Given the description of an element on the screen output the (x, y) to click on. 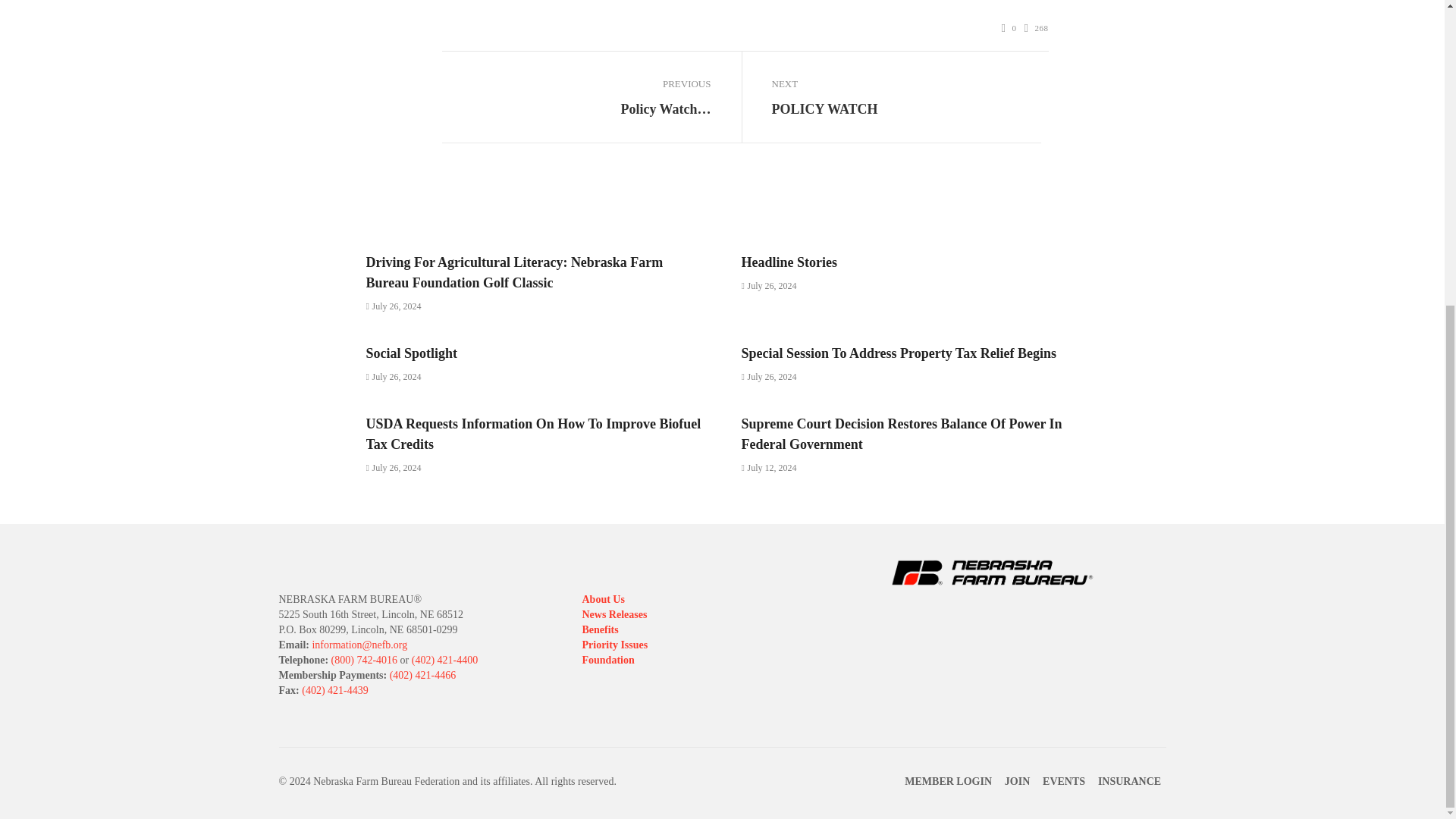
268 Views (1036, 28)
0 Comments (1008, 28)
July 26, 2024 at 3:52 pm (392, 306)
July 26, 2024 at 3:51 pm (768, 285)
